Given the description of an element on the screen output the (x, y) to click on. 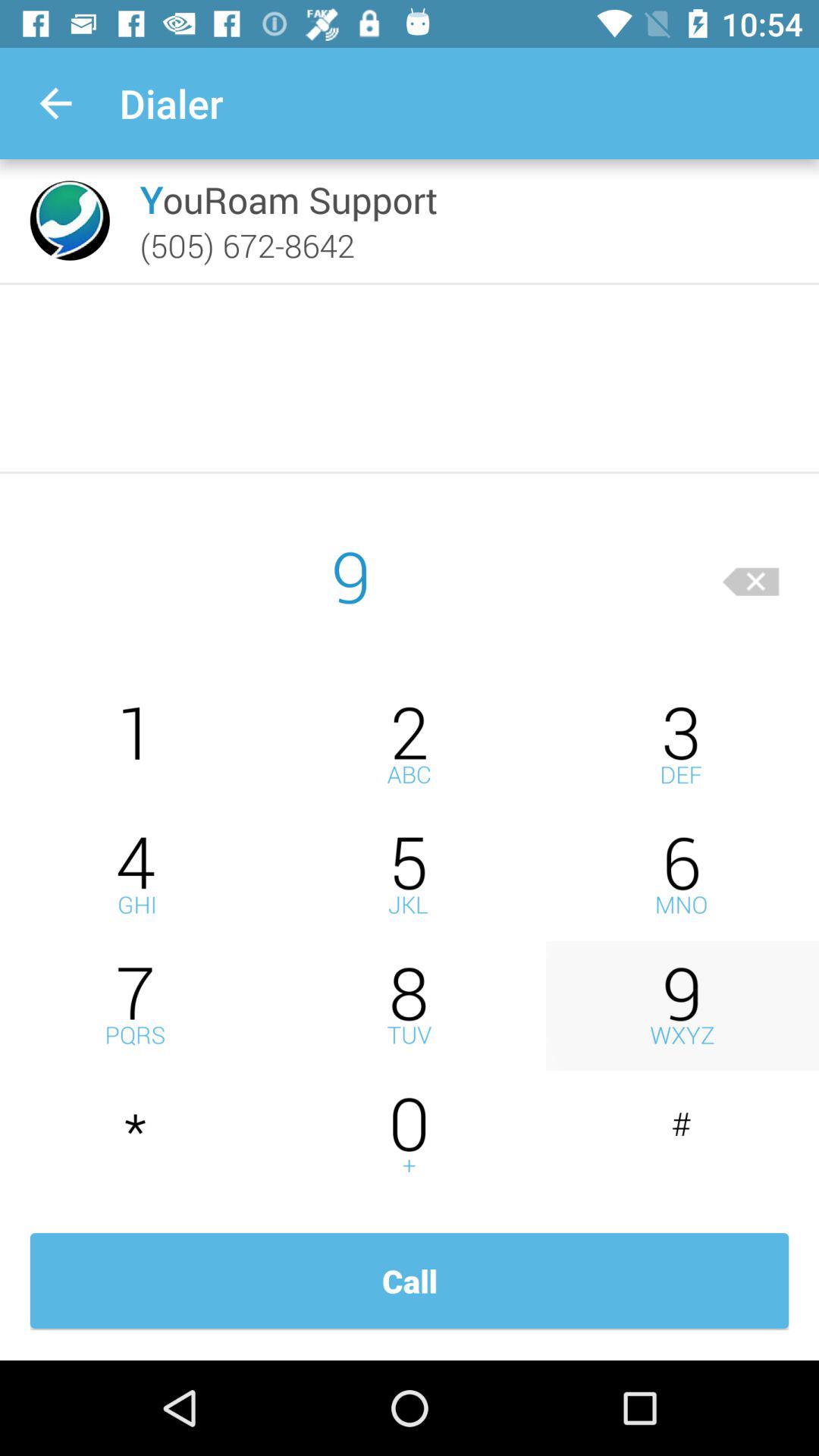
number nine switch (682, 1005)
